Given the description of an element on the screen output the (x, y) to click on. 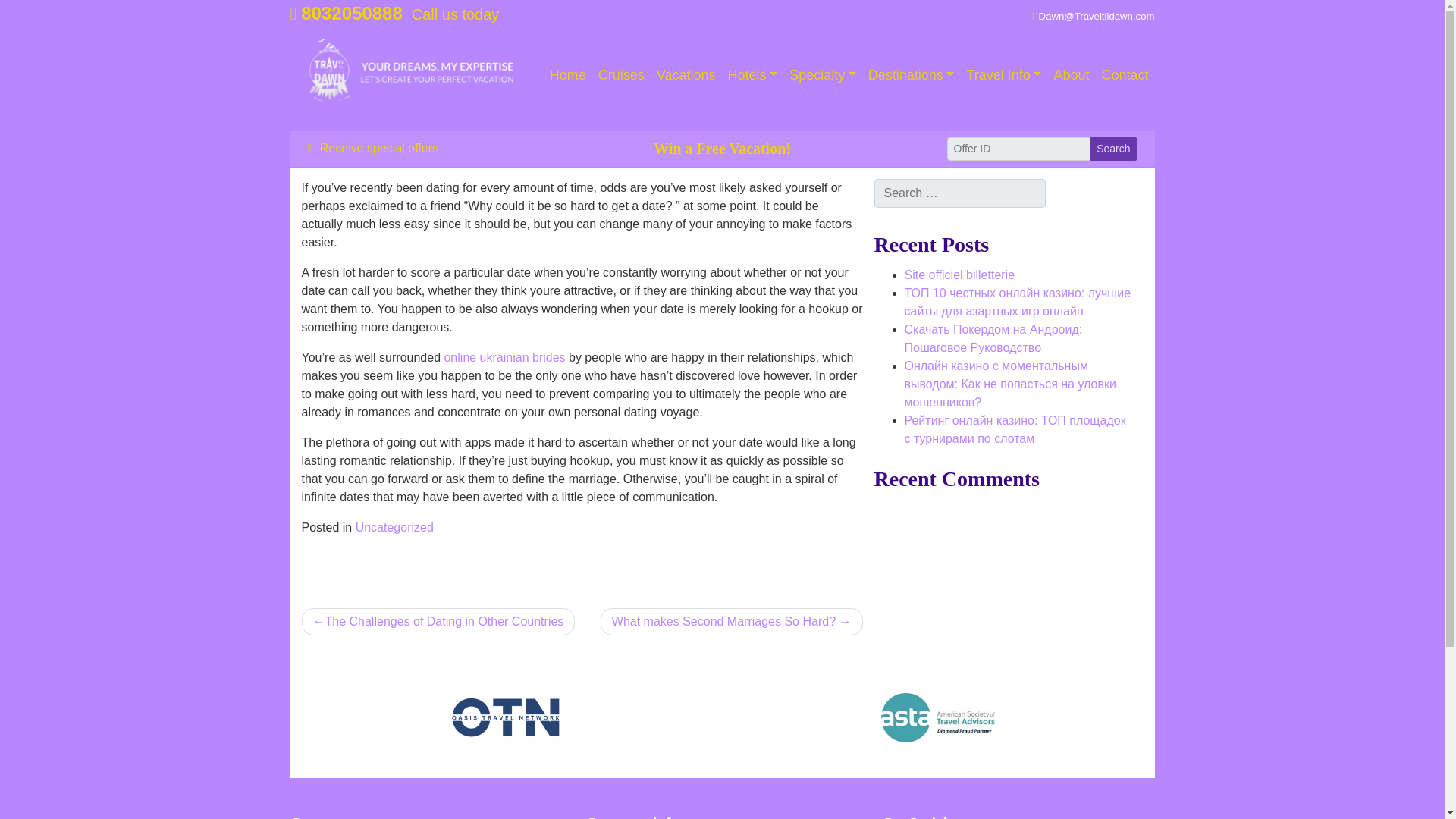
Search for: (959, 193)
8032050888 (345, 13)
Call us (345, 13)
Cruises (621, 74)
Specialty (822, 74)
Destinations (910, 74)
Vacations (686, 74)
Travel Info (1002, 74)
Home (567, 74)
Hotels (753, 74)
